Given the description of an element on the screen output the (x, y) to click on. 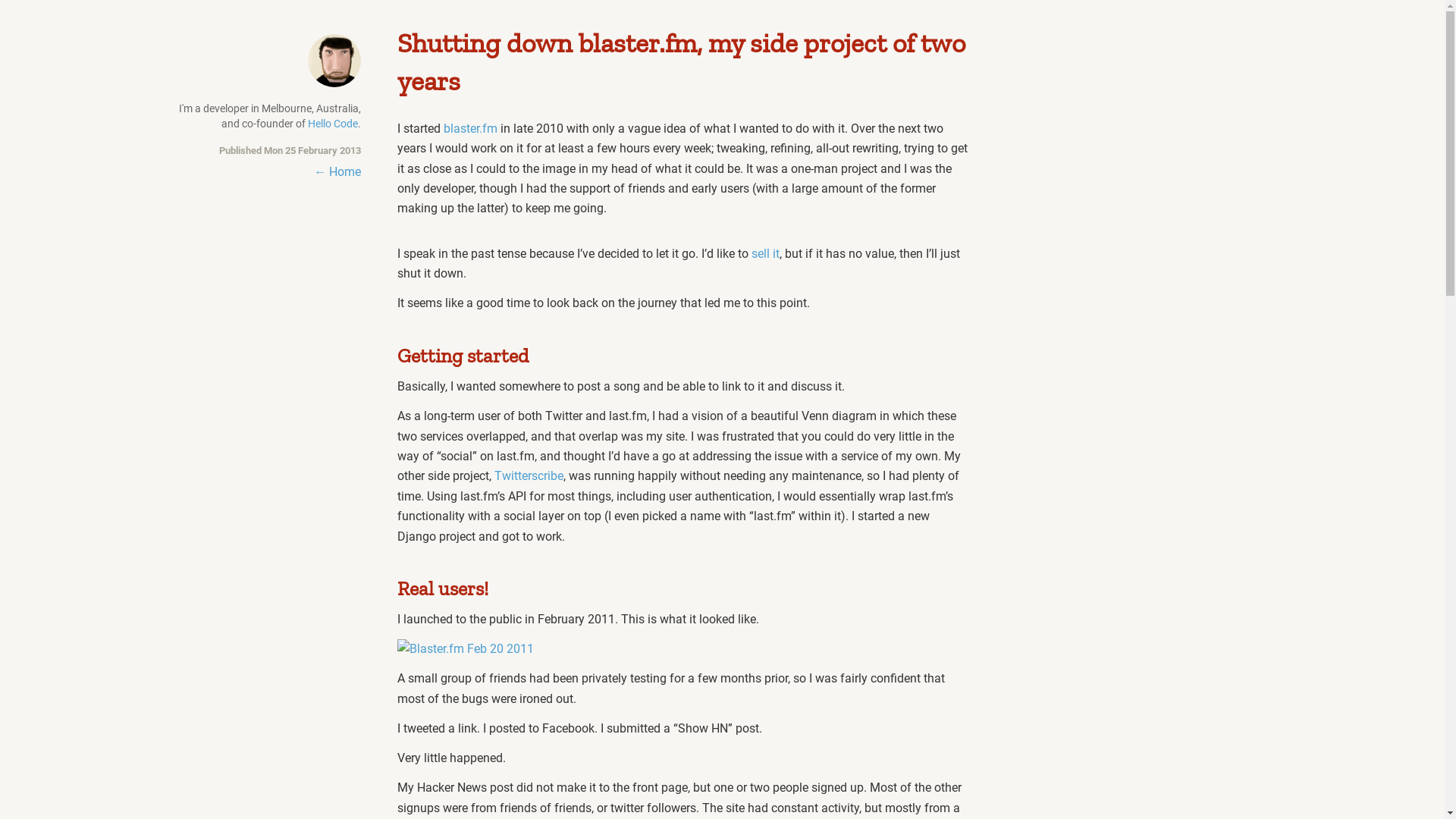
blaster.fm Element type: text (470, 128)
sell it Element type: text (765, 253)
Twitterscribe Element type: text (528, 475)
Blaster.fm Feb 20 2011 Element type: hover (465, 648)
Hello Code Element type: text (332, 123)
